Given the description of an element on the screen output the (x, y) to click on. 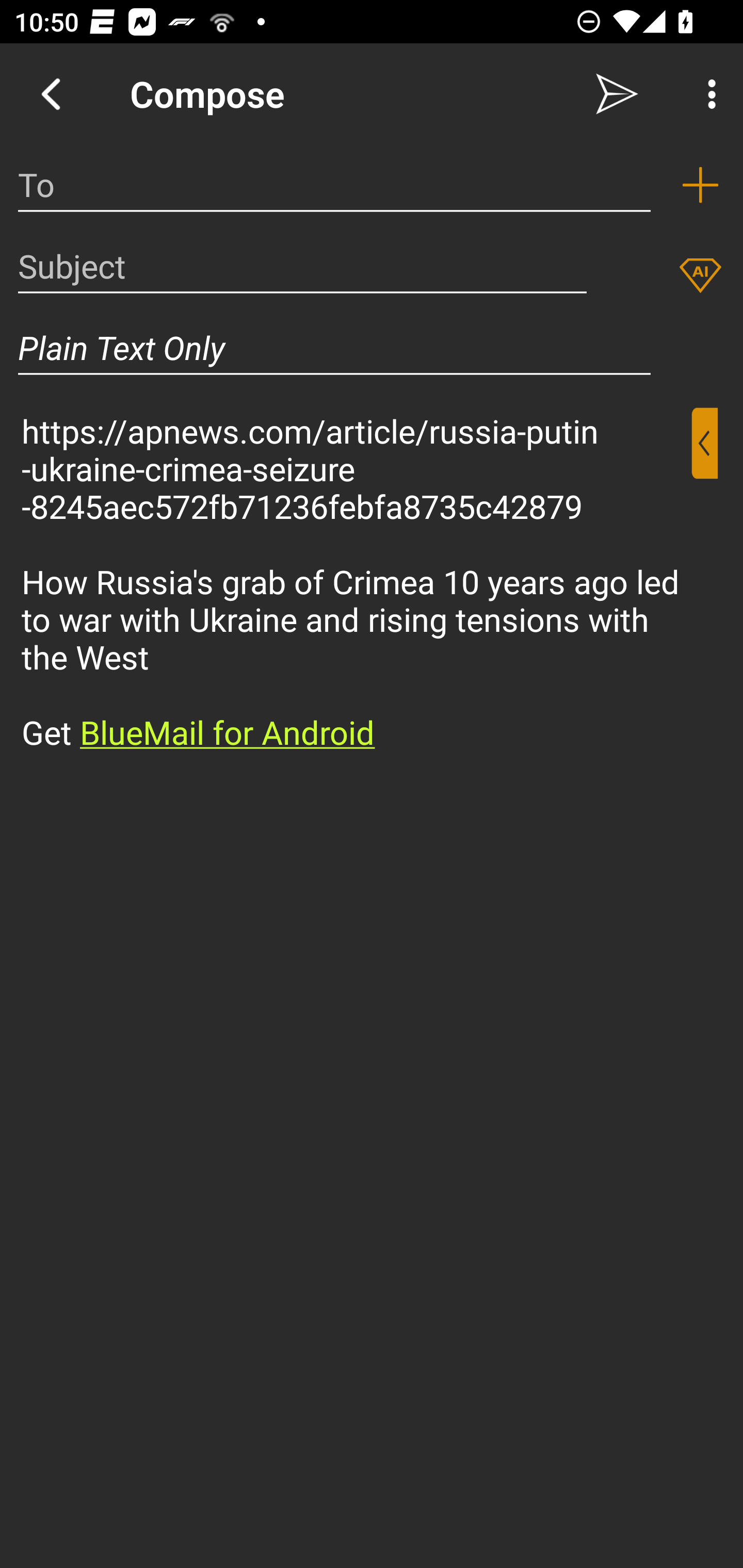
Navigate up (50, 93)
Send (616, 93)
More Options (706, 93)
To (334, 184)
Add recipient (To) (699, 184)
Subject (302, 266)
Plain Text Only (334, 347)
